Given the description of an element on the screen output the (x, y) to click on. 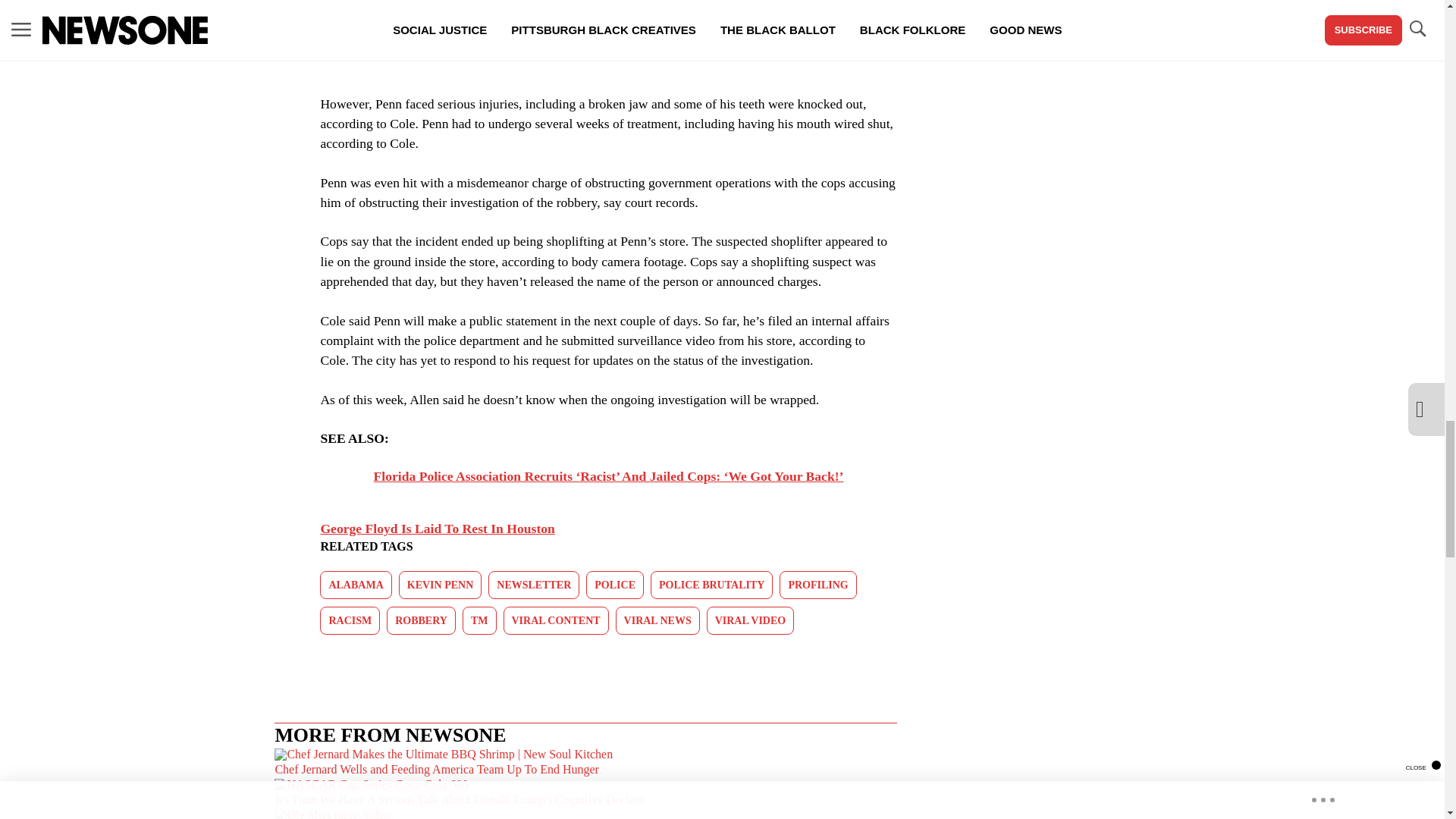
KEVIN PENN (439, 584)
ALABAMA (355, 584)
POLICE BRUTALITY (711, 584)
RACISM (350, 620)
POLICE (614, 584)
NEWSLETTER (533, 584)
TM (479, 620)
PROFILING (817, 584)
VIRAL VIDEO (750, 620)
VIRAL NEWS (657, 620)
Chef Jernard Wells and Feeding America Team Up To End Hunger (585, 763)
VIRAL CONTENT (555, 620)
George Floyd Is Laid To Rest In Houston (437, 528)
ROBBERY (421, 620)
